Given the description of an element on the screen output the (x, y) to click on. 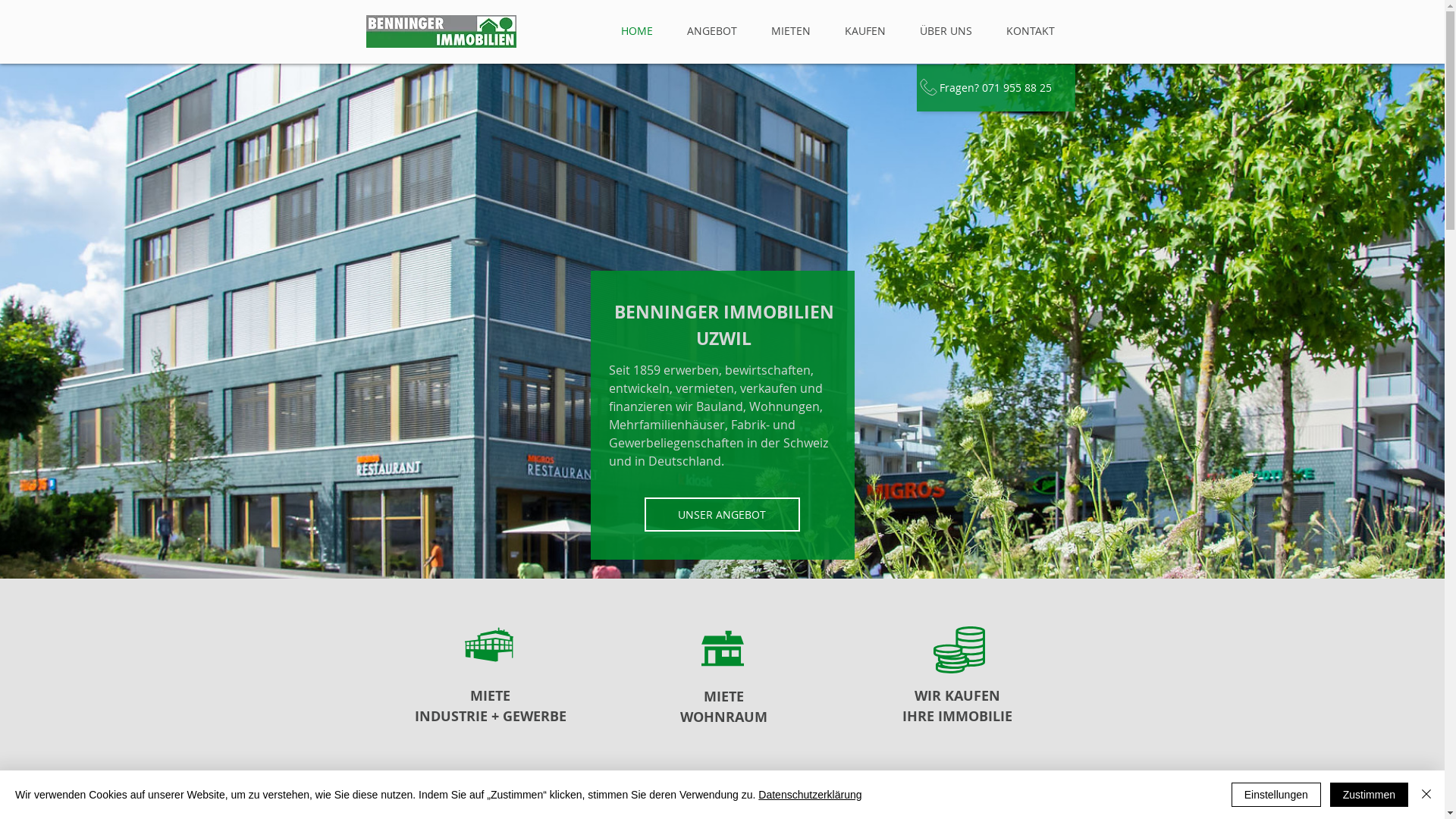
UNSER ANGEBOT Element type: text (722, 514)
HOME Element type: text (636, 30)
Zustimmen Element type: text (1369, 794)
Einstellungen Element type: text (1276, 794)
Fragen? 071 955 88 25 Element type: text (995, 87)
MIETEN Element type: text (790, 30)
KAUFEN Element type: text (865, 30)
ANGEBOT Element type: text (712, 30)
KONTAKT Element type: text (1029, 30)
